Given the description of an element on the screen output the (x, y) to click on. 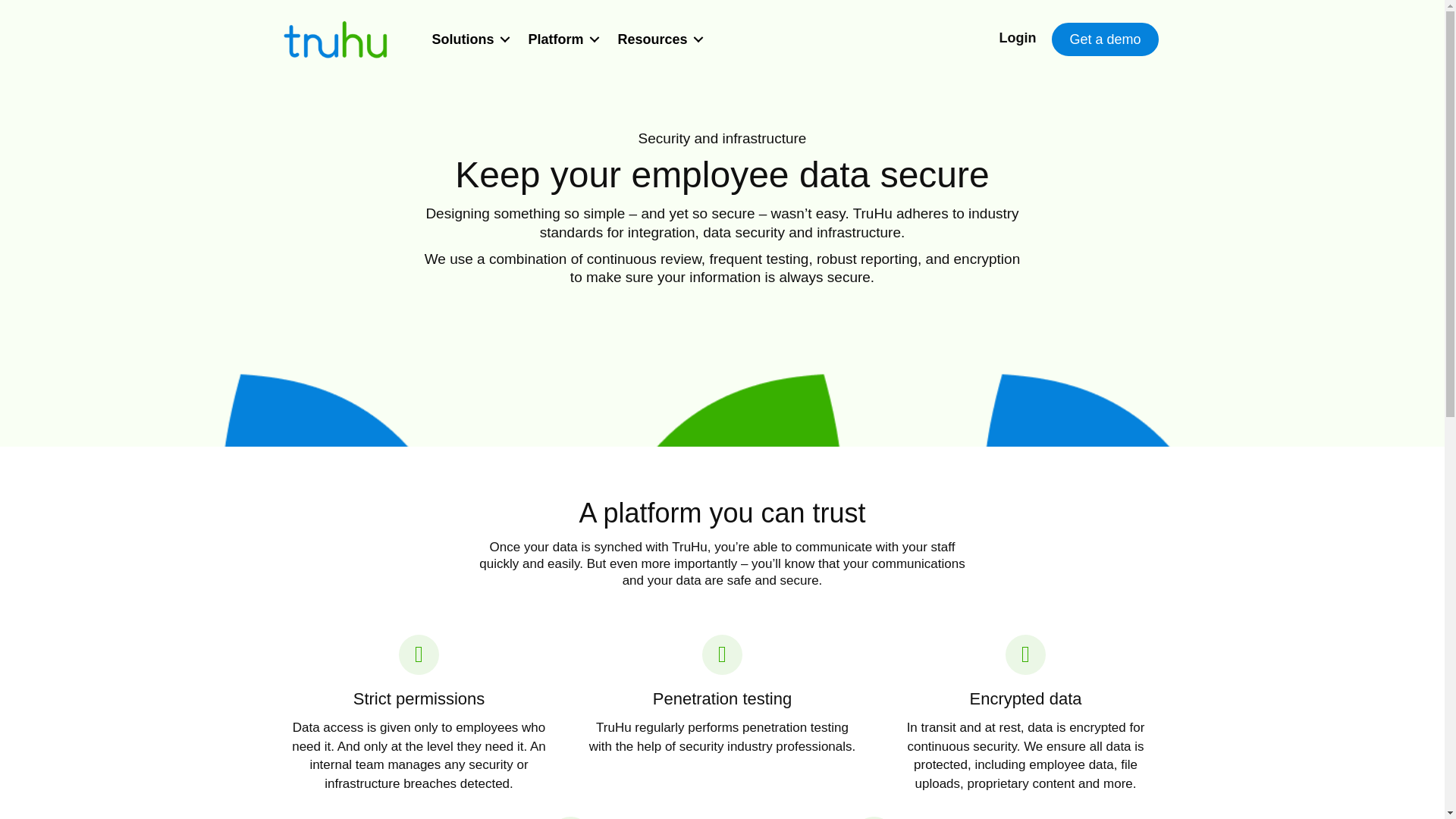
Get a demo (1104, 39)
Solutions (467, 39)
Resources (658, 39)
truhu-logo-new (335, 38)
Platform (560, 39)
Login (1018, 37)
